Given the description of an element on the screen output the (x, y) to click on. 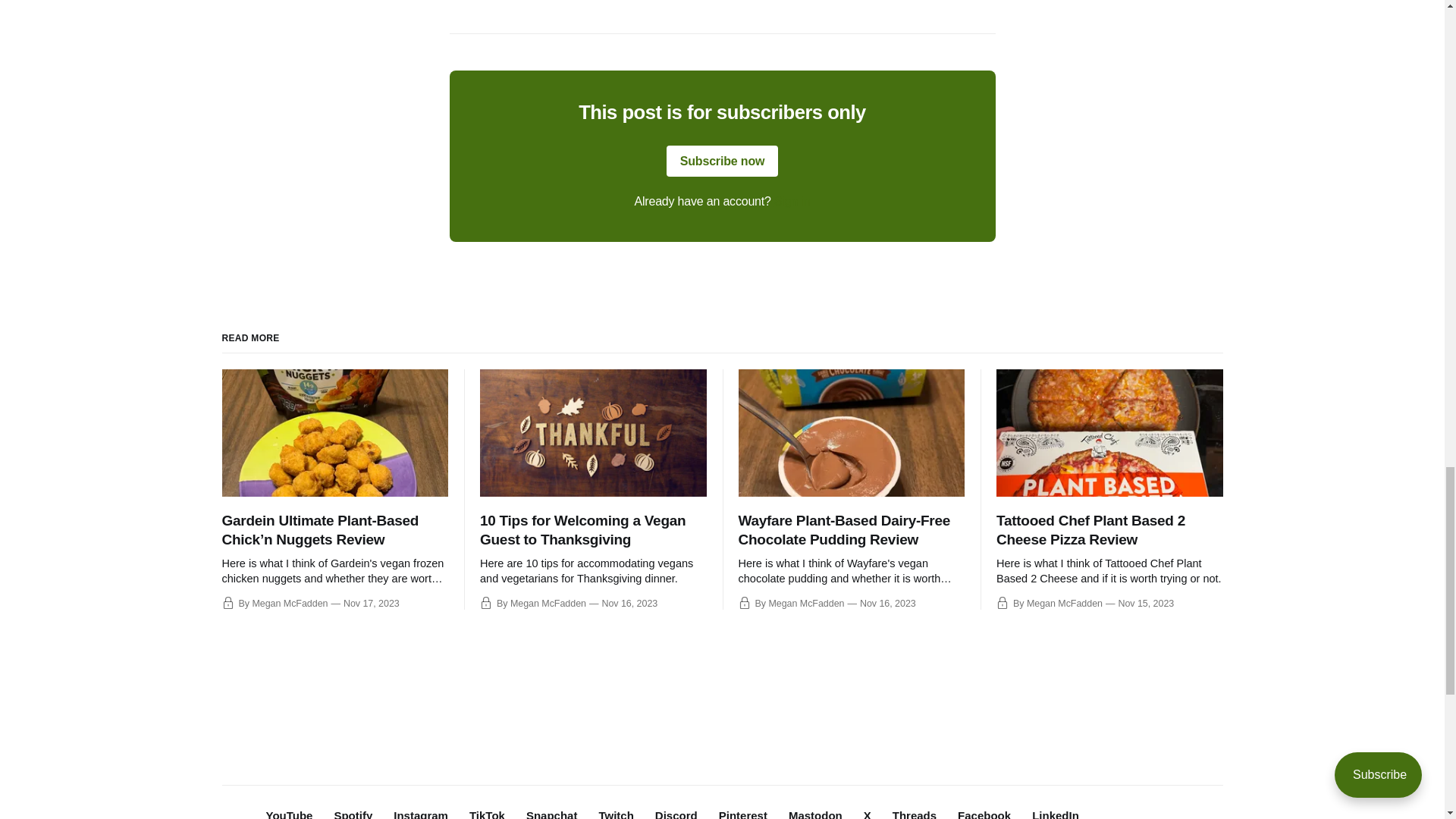
Twitch (615, 814)
TikTok (486, 814)
Spotify (352, 814)
Facebook (984, 814)
Pinterest (743, 814)
Snapchat (551, 814)
Subscribe now (722, 161)
Discord (676, 814)
YouTube (288, 814)
Instagram (420, 814)
Sign in (792, 201)
LinkedIn (1055, 814)
Mastodon (816, 814)
